Given the description of an element on the screen output the (x, y) to click on. 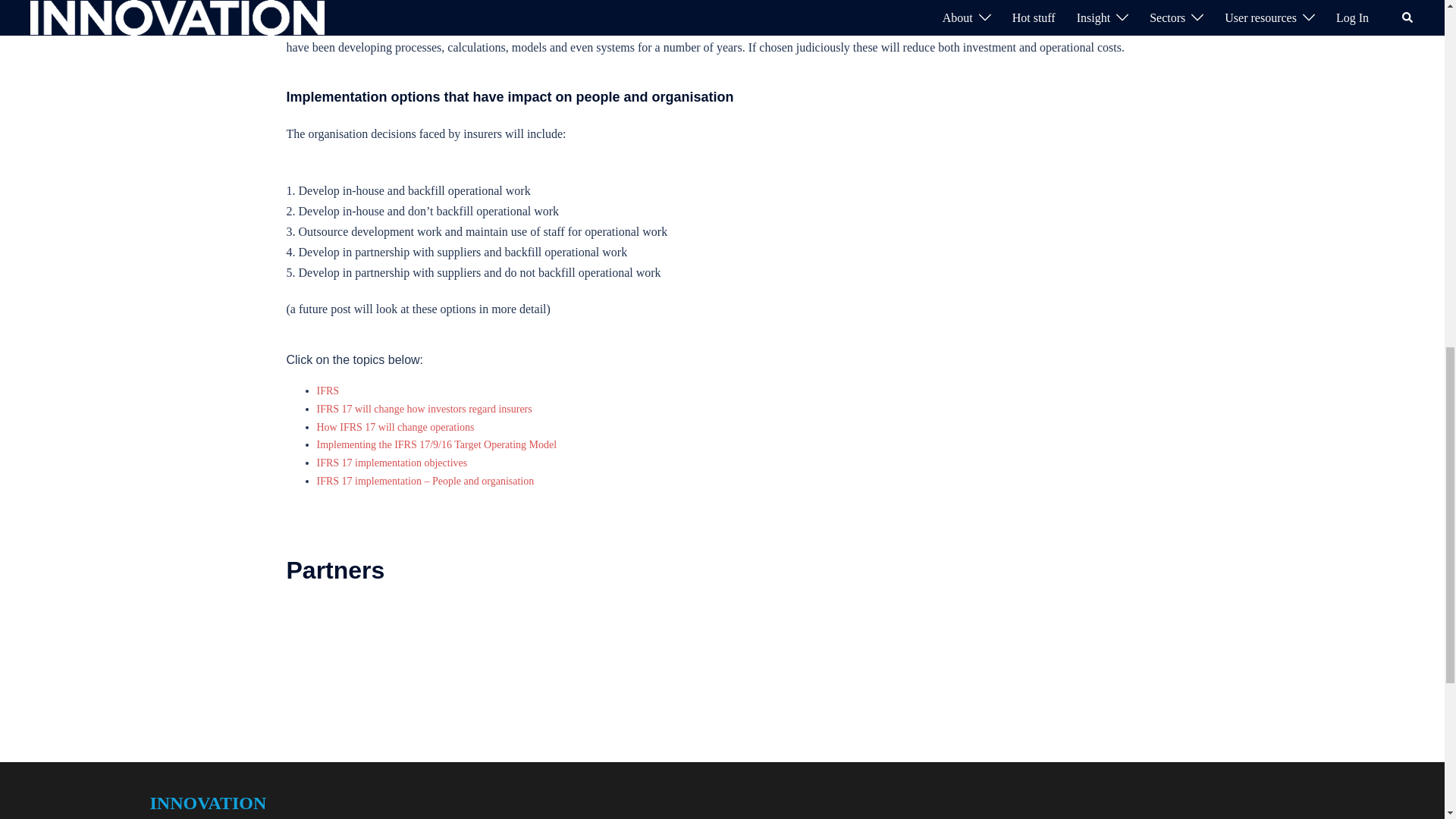
IFRS (328, 390)
How IFRS 17 will change operations (395, 427)
IFRS 17 implementation objectives (392, 462)
IFRS 17 will change how investors regard insurers (424, 408)
IFRS 17 implementation - People and organisation (425, 480)
